Given the description of an element on the screen output the (x, y) to click on. 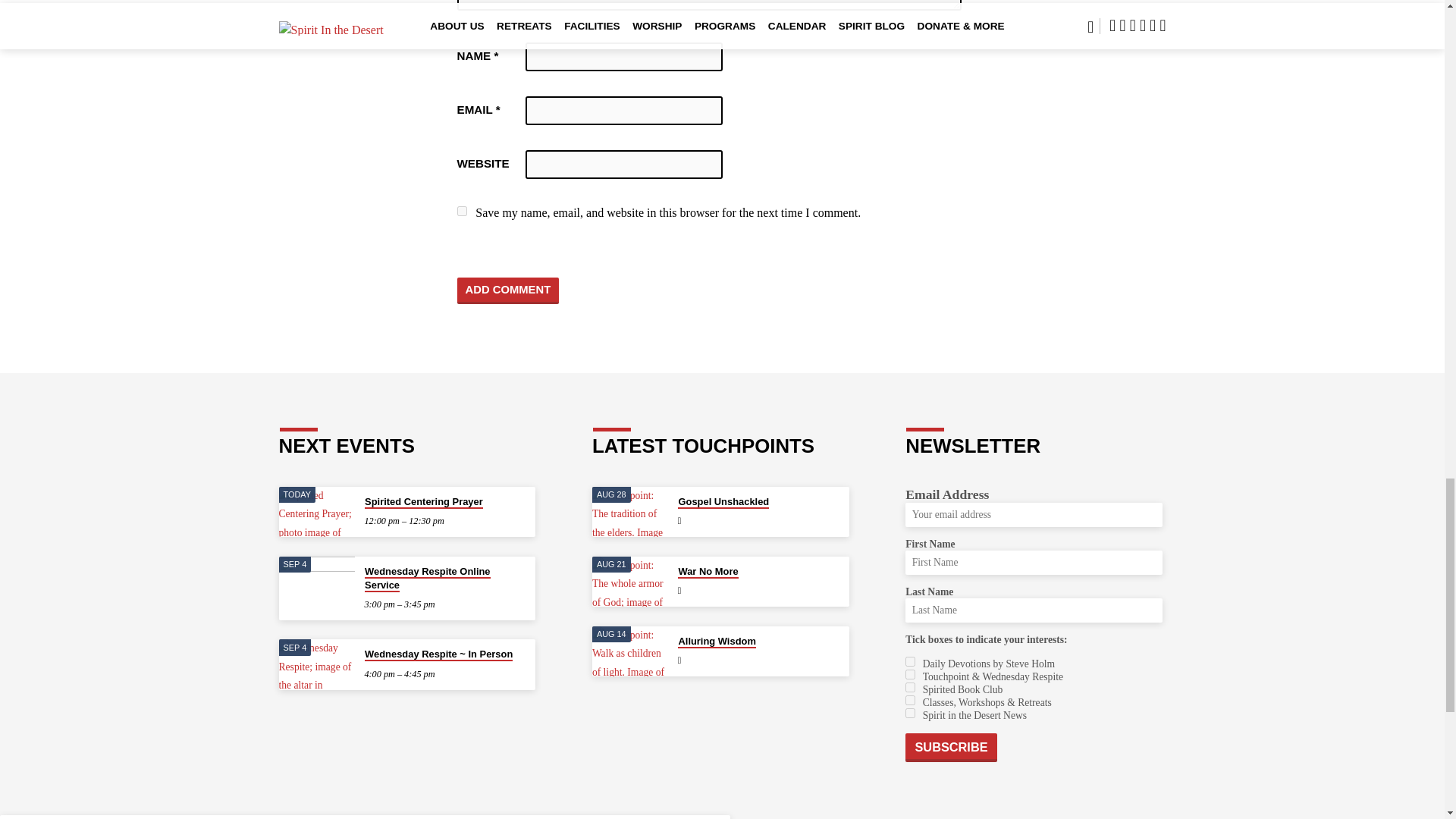
451e56ae58 (910, 687)
yes (461, 211)
44e0e54a7c (910, 674)
f19ab91031 (910, 661)
db06863268 (910, 713)
e15f548fa0 (910, 700)
Add Comment (508, 290)
Subscribe (951, 747)
